Given the description of an element on the screen output the (x, y) to click on. 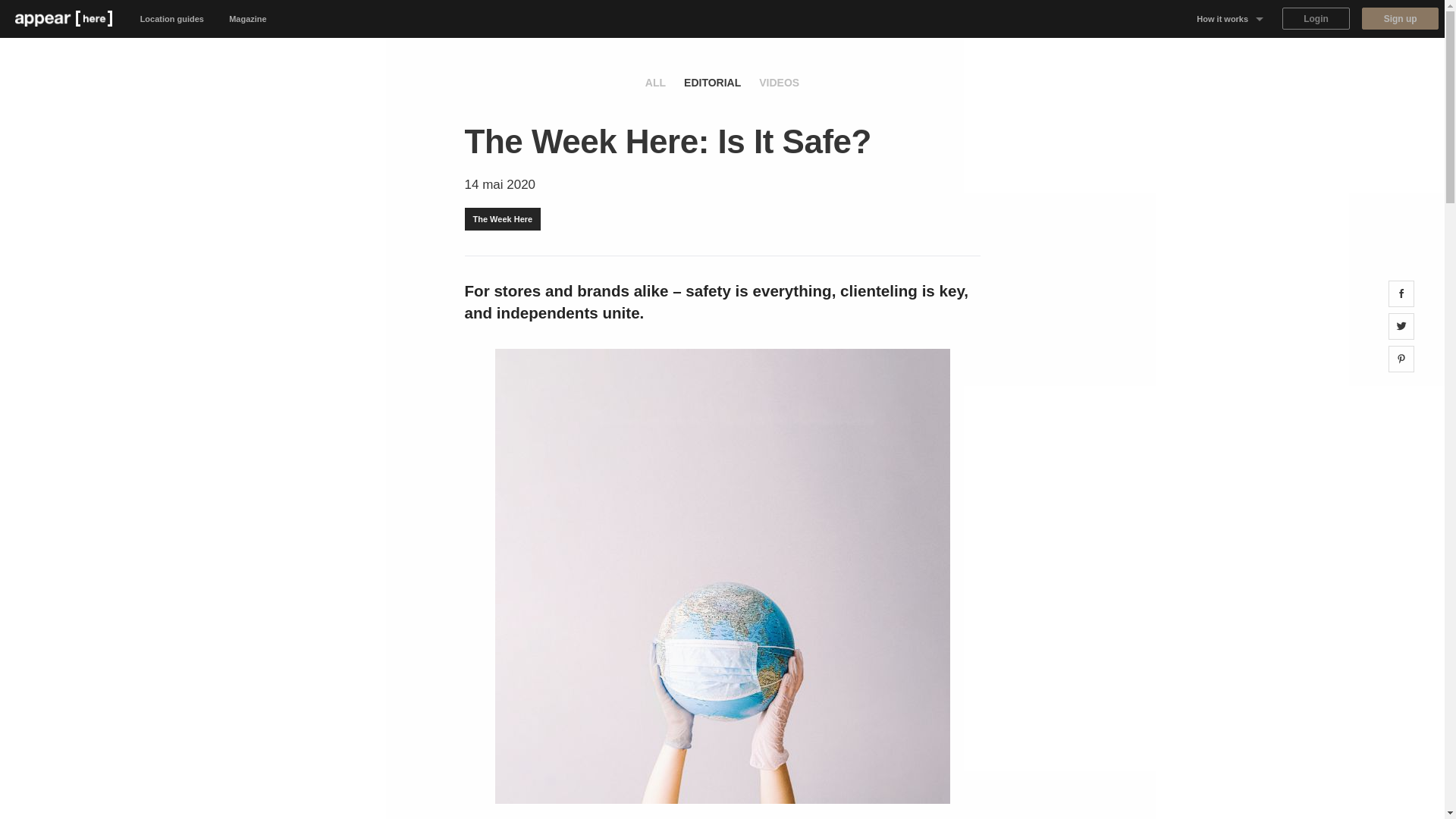
Location guides (172, 18)
Why Appear Here (1230, 56)
Magazine (247, 18)
How it works (1230, 18)
